Given the description of an element on the screen output the (x, y) to click on. 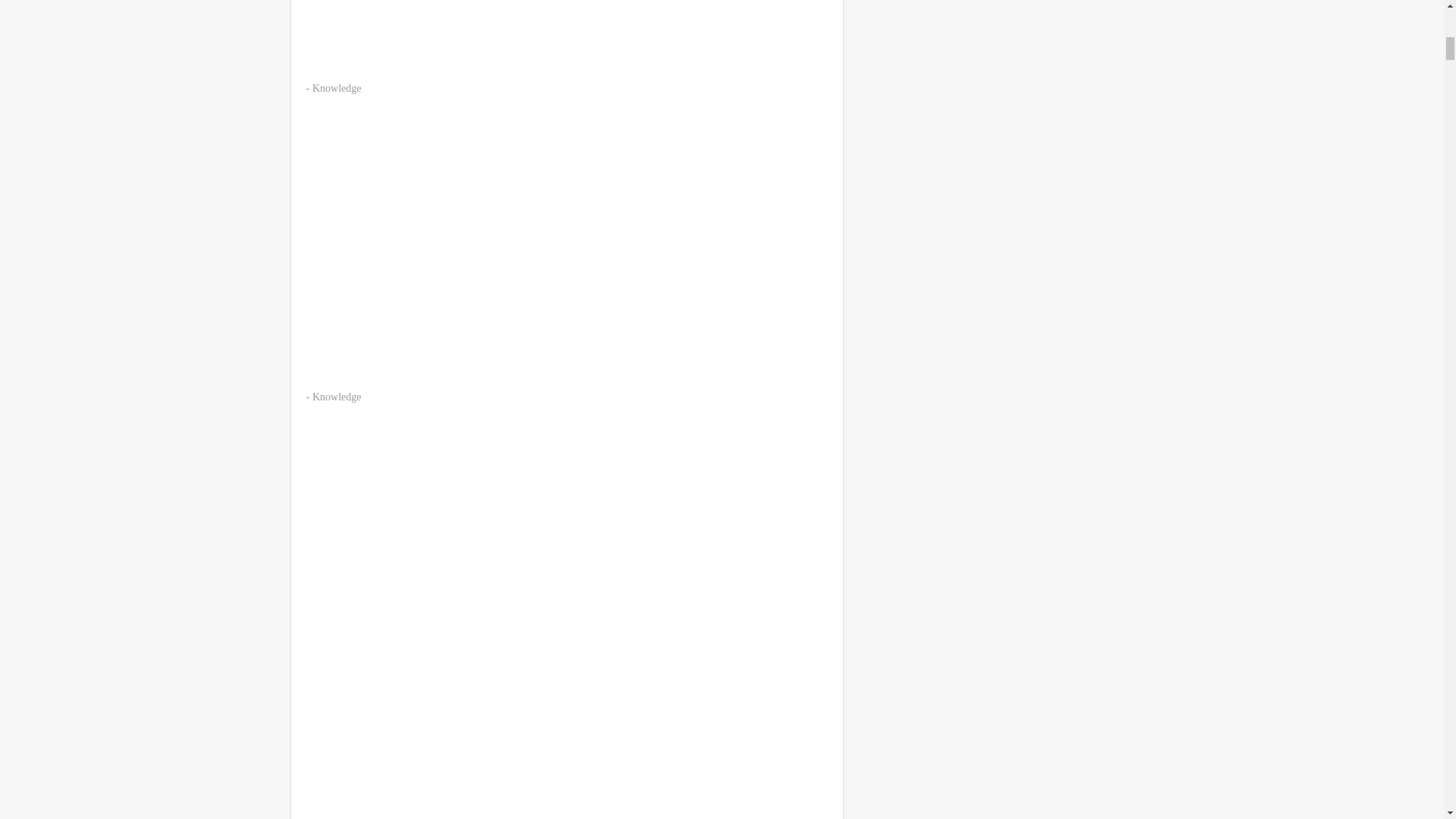
Knowledge (337, 396)
Knowledge (337, 88)
